Given the description of an element on the screen output the (x, y) to click on. 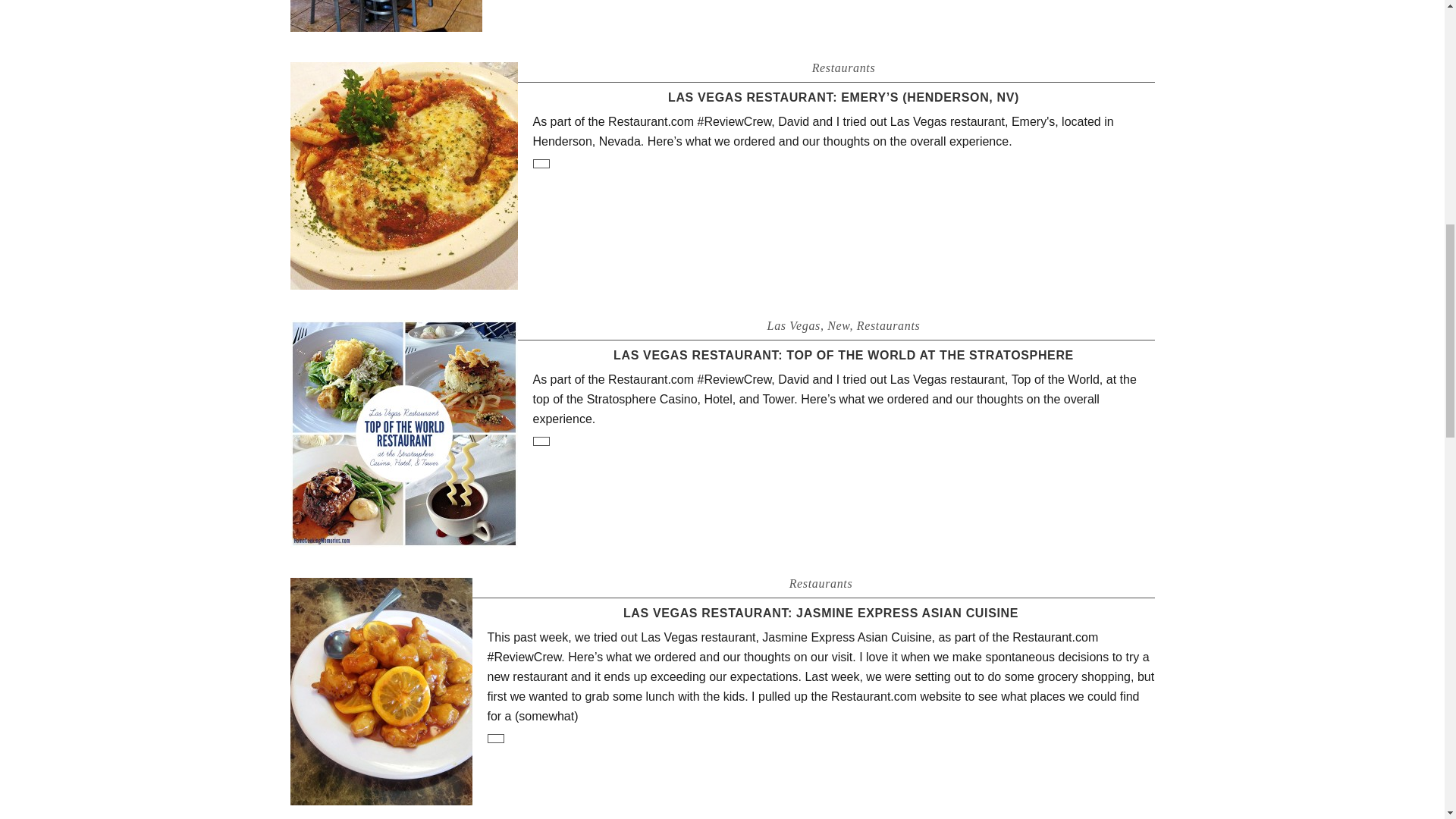
Restaurants (888, 325)
New (837, 325)
Restaurants (844, 67)
LAS VEGAS RESTAURANT: TOP OF THE WORLD AT THE STRATOSPHERE (843, 354)
Las Vegas (794, 325)
